Given the description of an element on the screen output the (x, y) to click on. 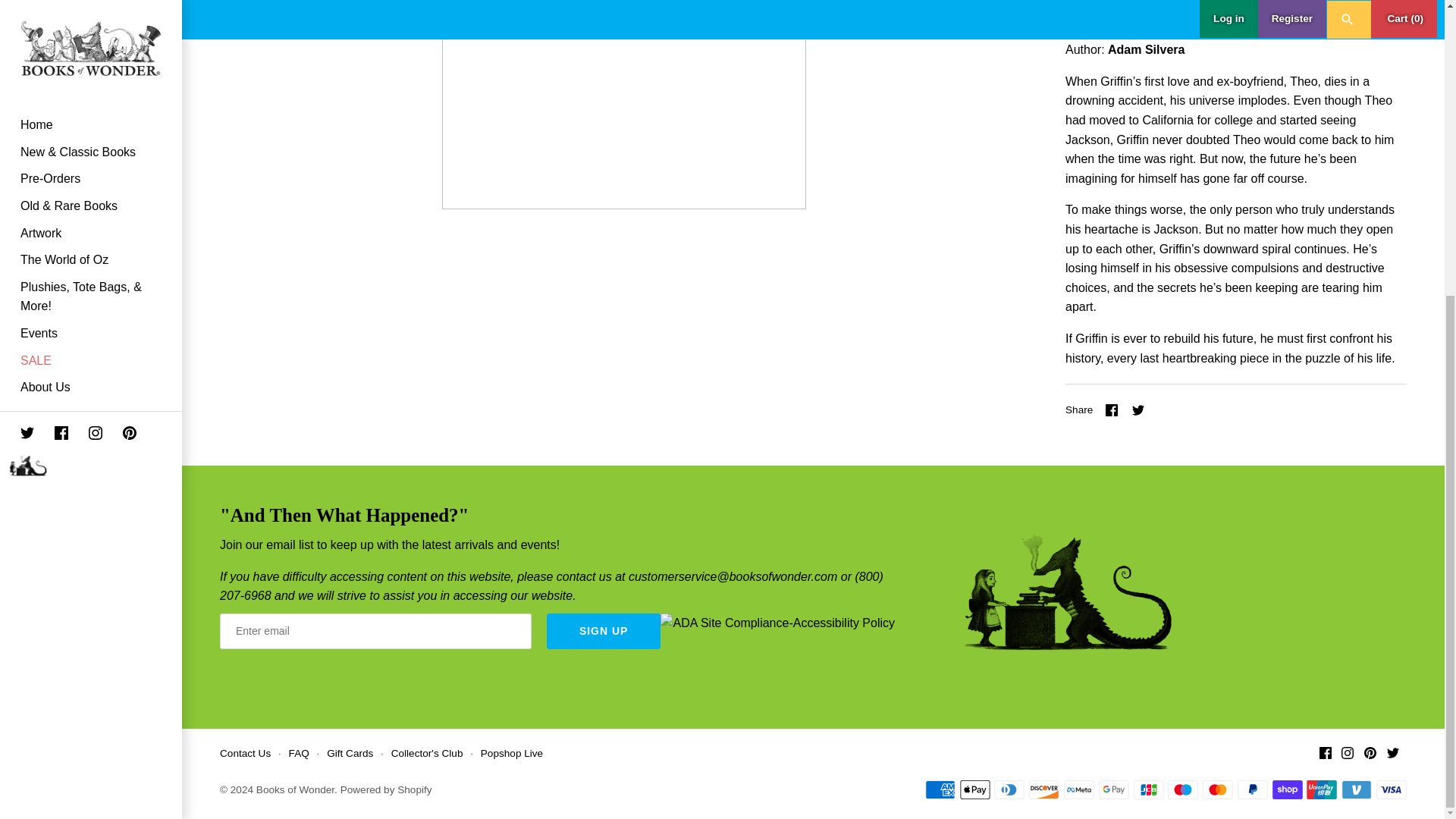
Twitter (1393, 752)
Google Pay (1114, 789)
Discover (1044, 789)
Facebook (1111, 410)
Apple Pay (974, 789)
Facebook (1325, 752)
JCB (1148, 789)
American Express (939, 789)
Maestro (1182, 789)
Instagram (1347, 752)
